Given the description of an element on the screen output the (x, y) to click on. 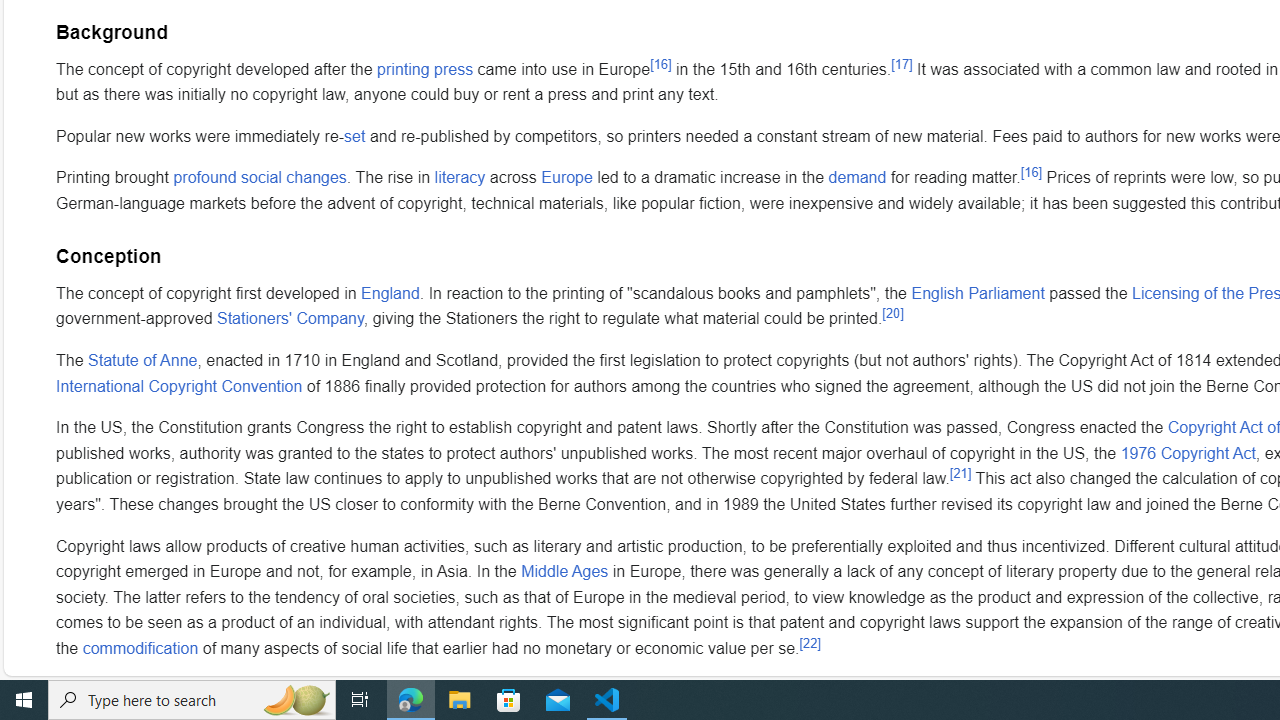
printing press (425, 68)
demand (857, 178)
England (389, 292)
